Given the description of an element on the screen output the (x, y) to click on. 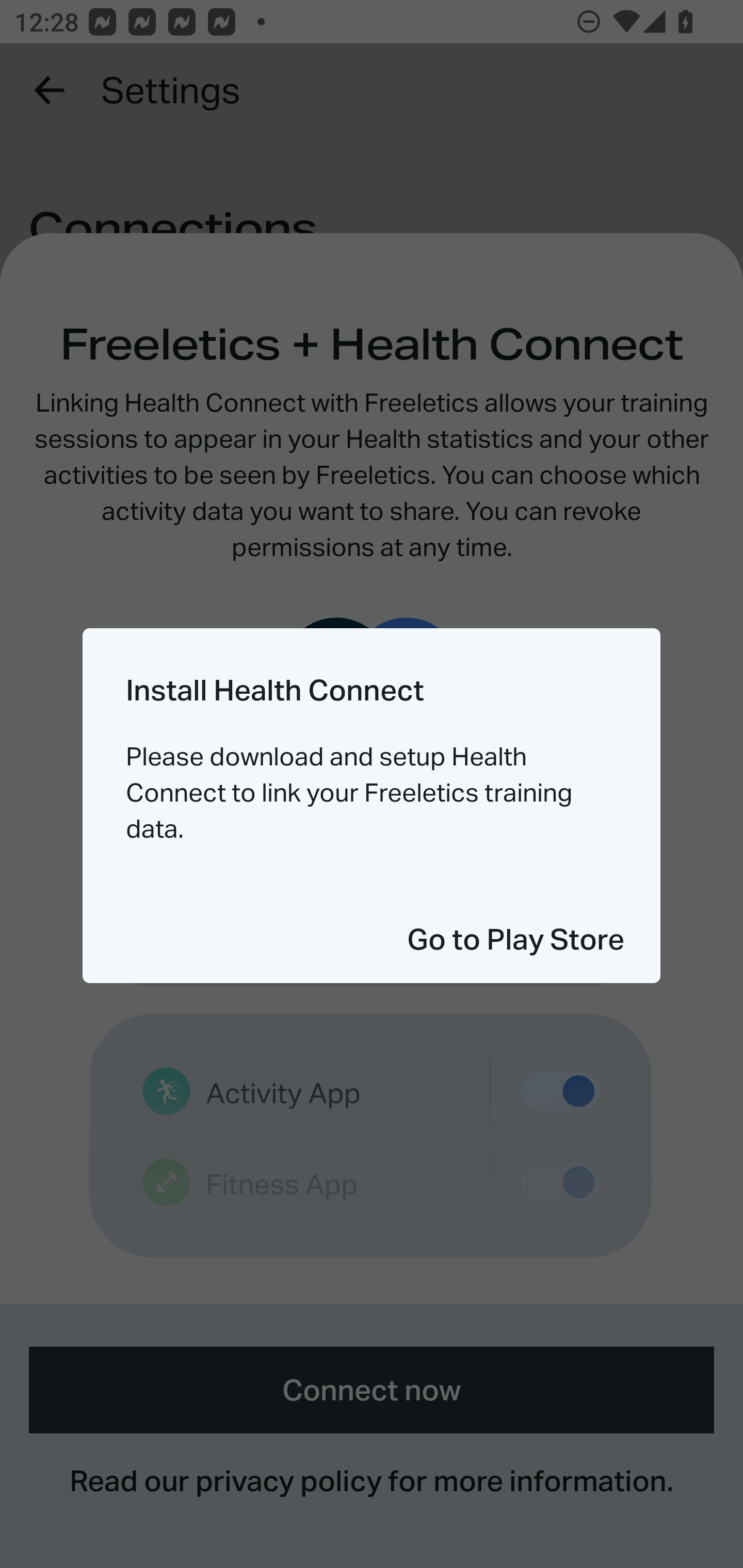
Go to Play Store (515, 939)
